Given the description of an element on the screen output the (x, y) to click on. 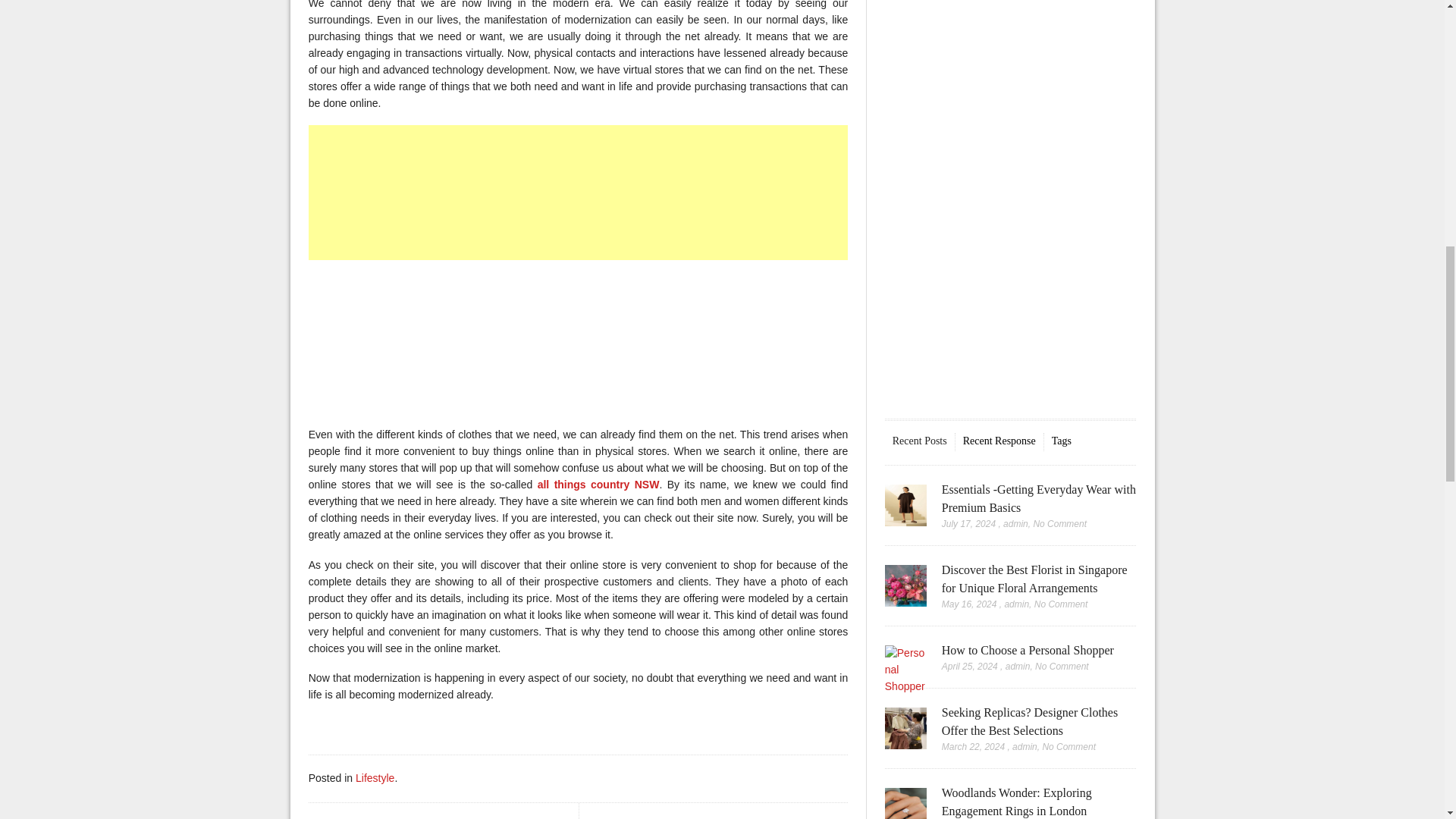
Tags (1061, 440)
Lifestyle (374, 777)
Essentials -Getting Everyday Wear with Premium Basics (905, 505)
all things country NSW (598, 484)
Essentials -Getting Everyday Wear with Premium Basics (1038, 498)
Advertisement (578, 340)
Recent Response (998, 440)
Recent Posts (919, 440)
Advertisement (1017, 187)
